Given the description of an element on the screen output the (x, y) to click on. 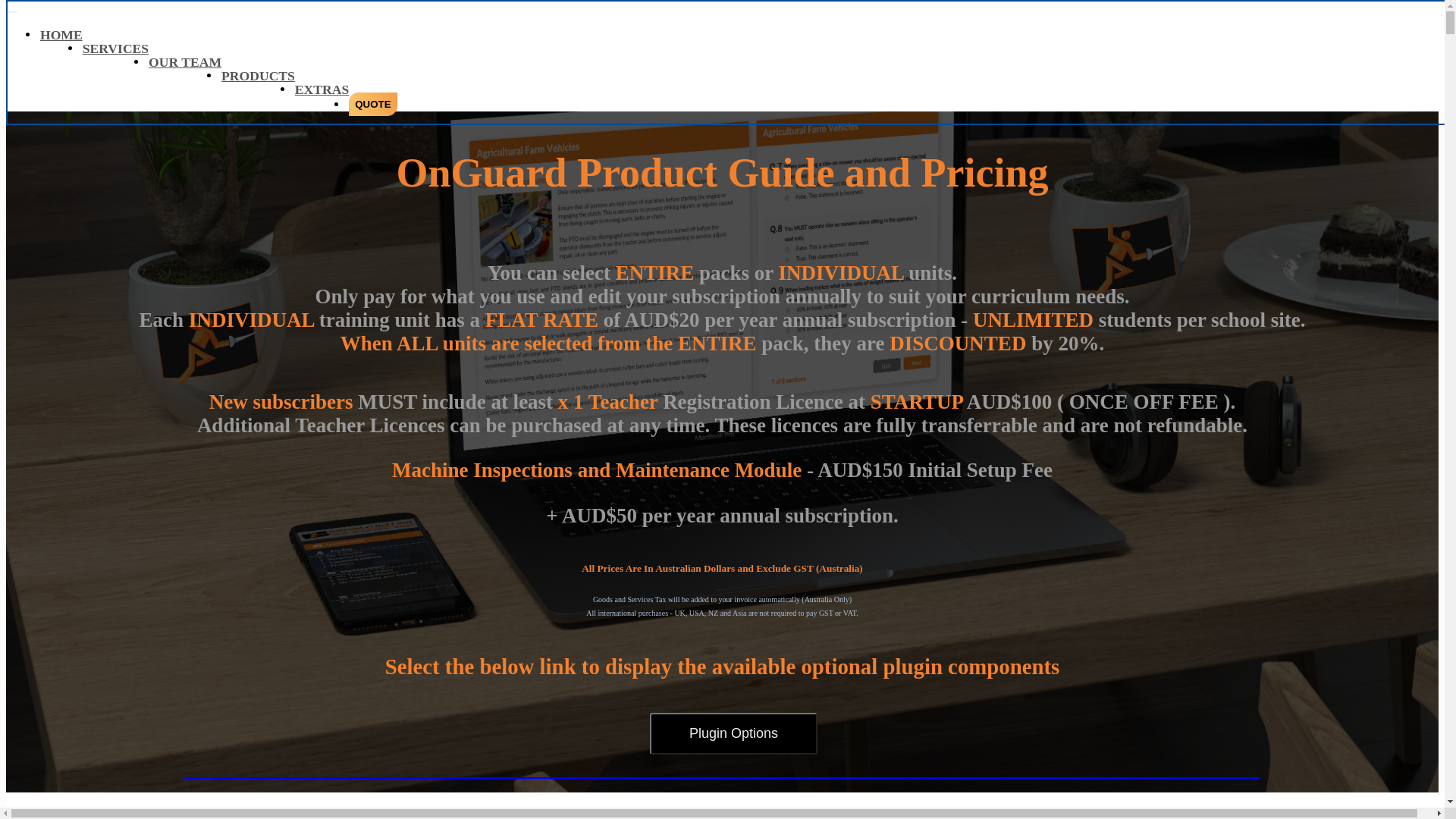
Plugin Options Element type: text (733, 733)
OUR TEAM Element type: text (184, 62)
QUOTE Element type: text (372, 103)
EXTRAS Element type: text (321, 89)
PRODUCTS Element type: text (257, 76)
SERVICES Element type: text (115, 48)
HOME Element type: text (61, 35)
